Given the description of an element on the screen output the (x, y) to click on. 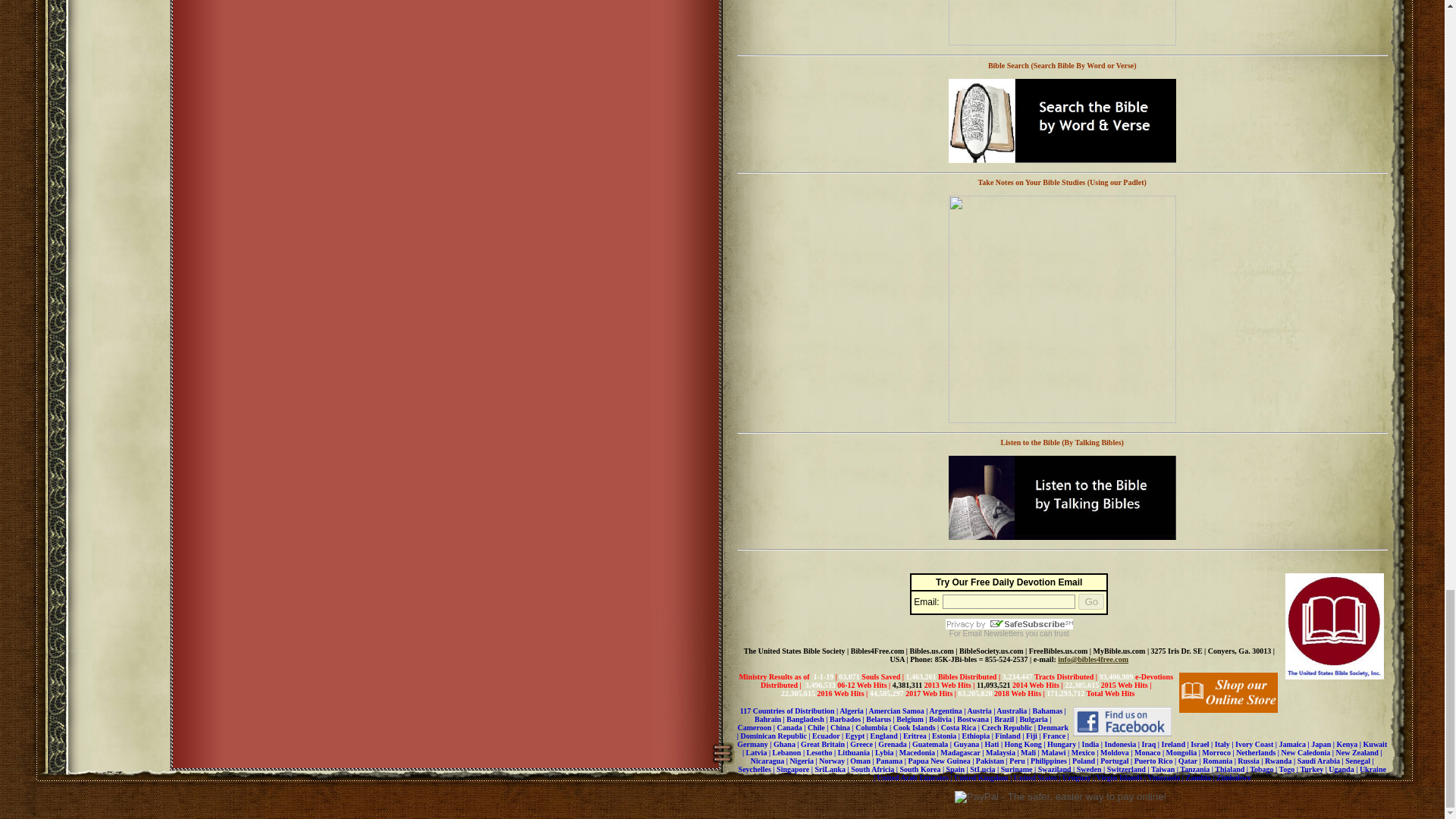
Go (1090, 601)
Go (1090, 601)
Email Newsletters (992, 633)
